Given the description of an element on the screen output the (x, y) to click on. 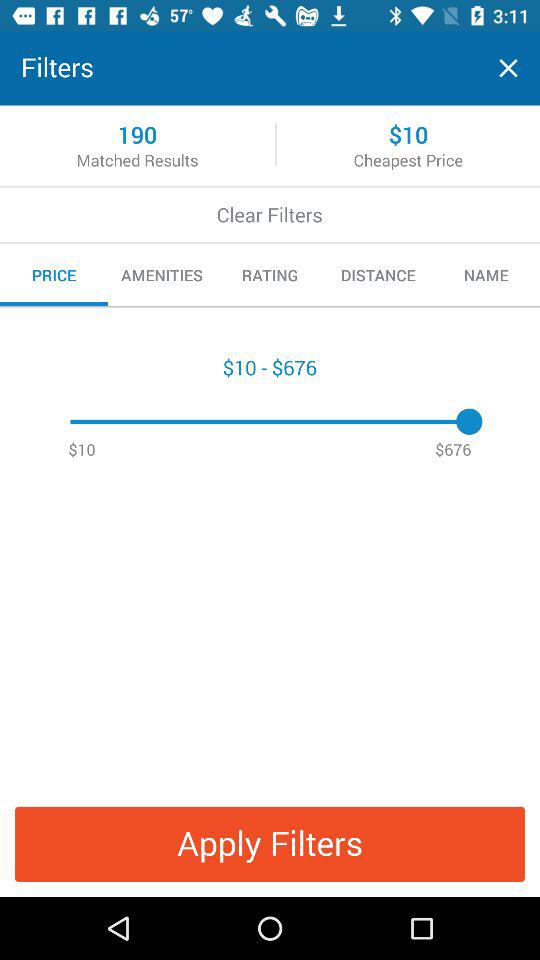
select item to the right of the rating (378, 275)
